Given the description of an element on the screen output the (x, y) to click on. 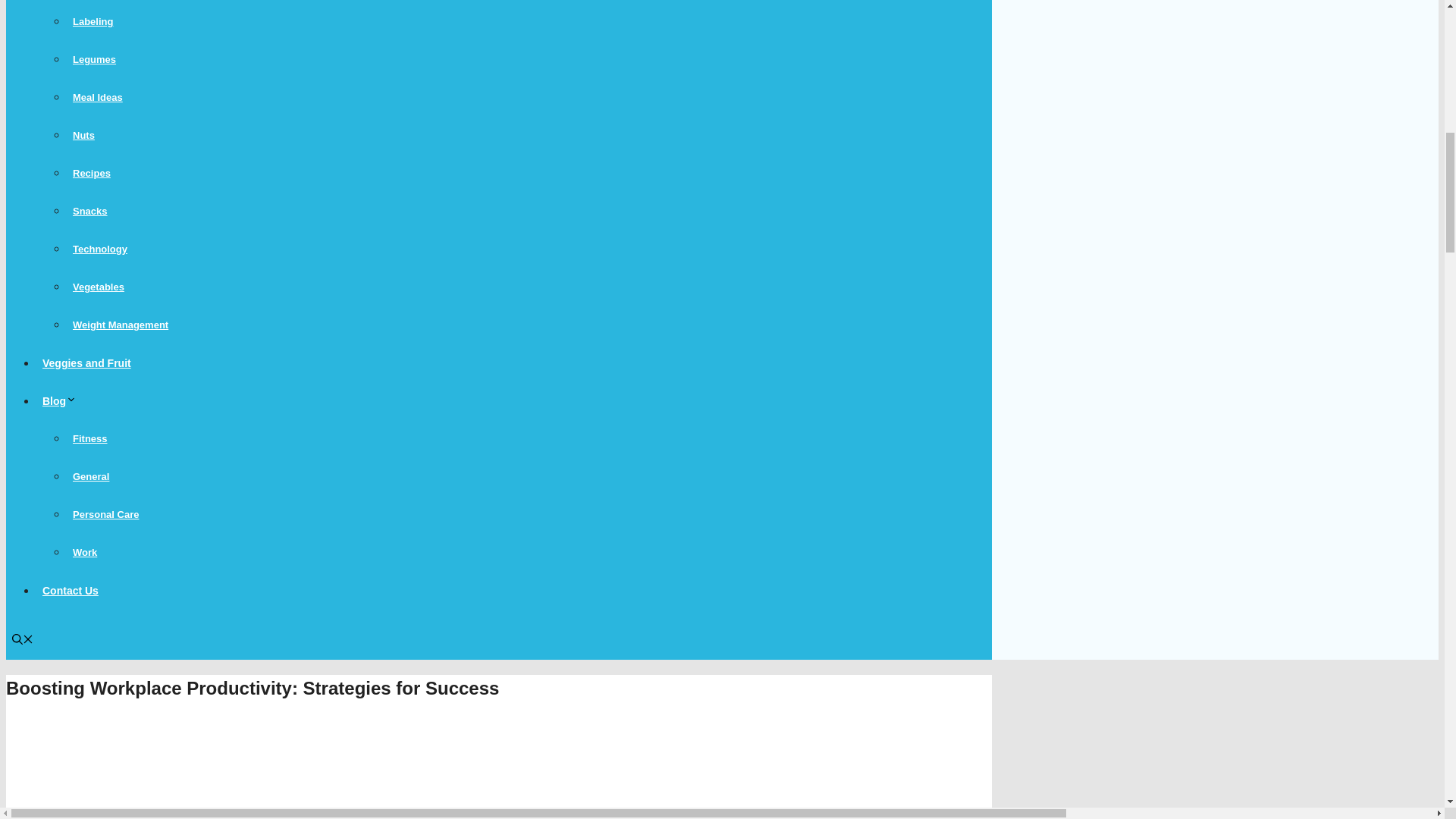
Veggies and Fruit (86, 363)
Technology (99, 248)
Blog (62, 400)
Personal Care (105, 514)
Nuts (83, 135)
Fitness (89, 438)
Weight Management (120, 325)
Snacks (89, 211)
Work (84, 551)
Legumes (94, 58)
Vegetables (98, 286)
General (90, 476)
Labeling (92, 21)
Meal Ideas (97, 97)
Contact Us (70, 590)
